Given the description of an element on the screen output the (x, y) to click on. 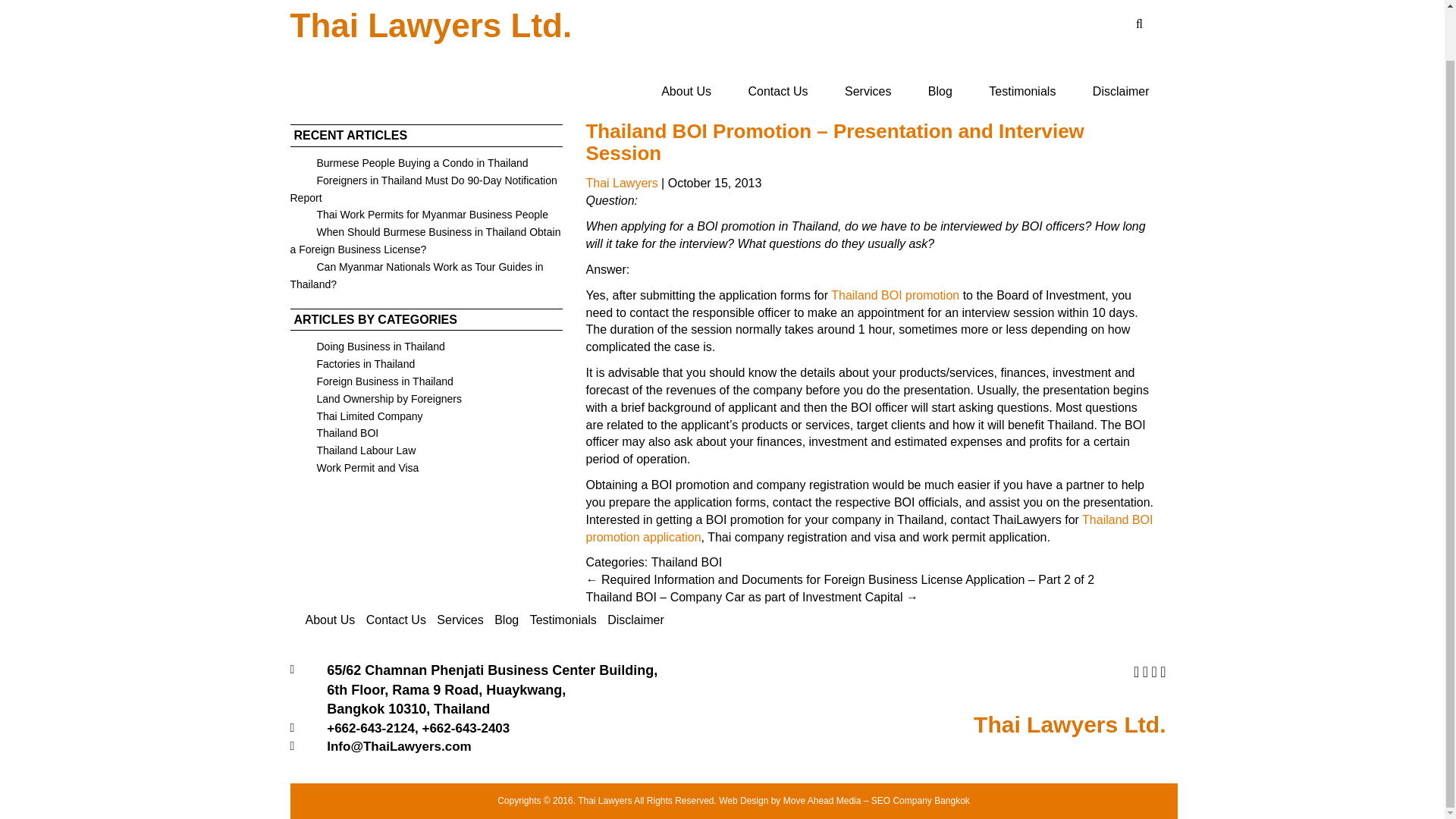
Work Permit and Visa (354, 467)
Thai Limited Company (355, 416)
Thailand BOI (333, 432)
Thailand Labour Law (351, 450)
Blog (940, 91)
About Us (686, 91)
Thailand BOI promotion (895, 295)
Thai Work Permits for Myanmar Business People (418, 214)
Testimonials (562, 620)
